Given the description of an element on the screen output the (x, y) to click on. 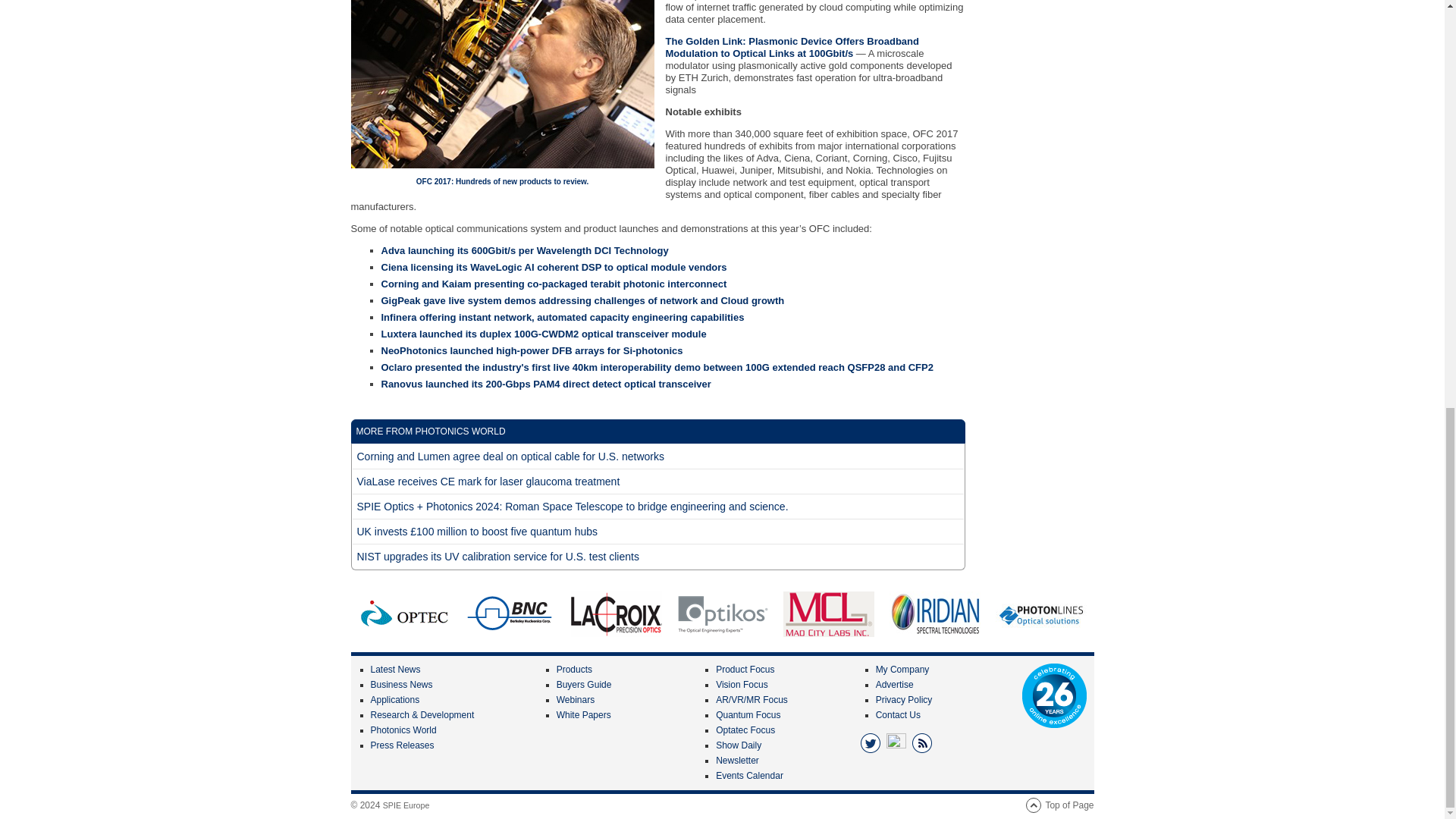
OFC 2017: Hundreds of new products to review. (502, 181)
LinkedIn (895, 742)
OFC 2017: Hundreds of new products to review. (501, 84)
RSS Feeds (921, 742)
Twitter (870, 742)
